Given the description of an element on the screen output the (x, y) to click on. 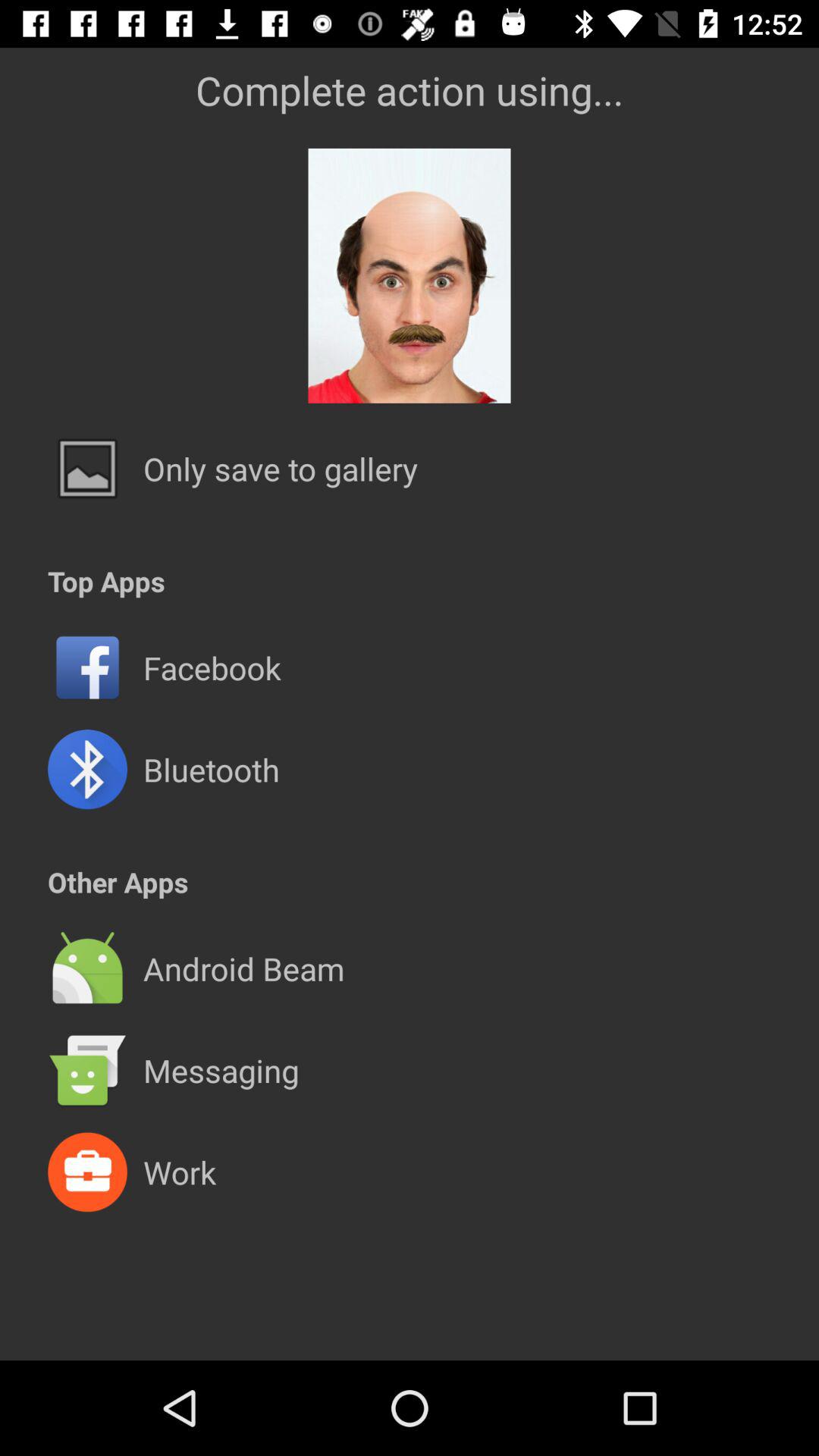
turn off work (179, 1171)
